Given the description of an element on the screen output the (x, y) to click on. 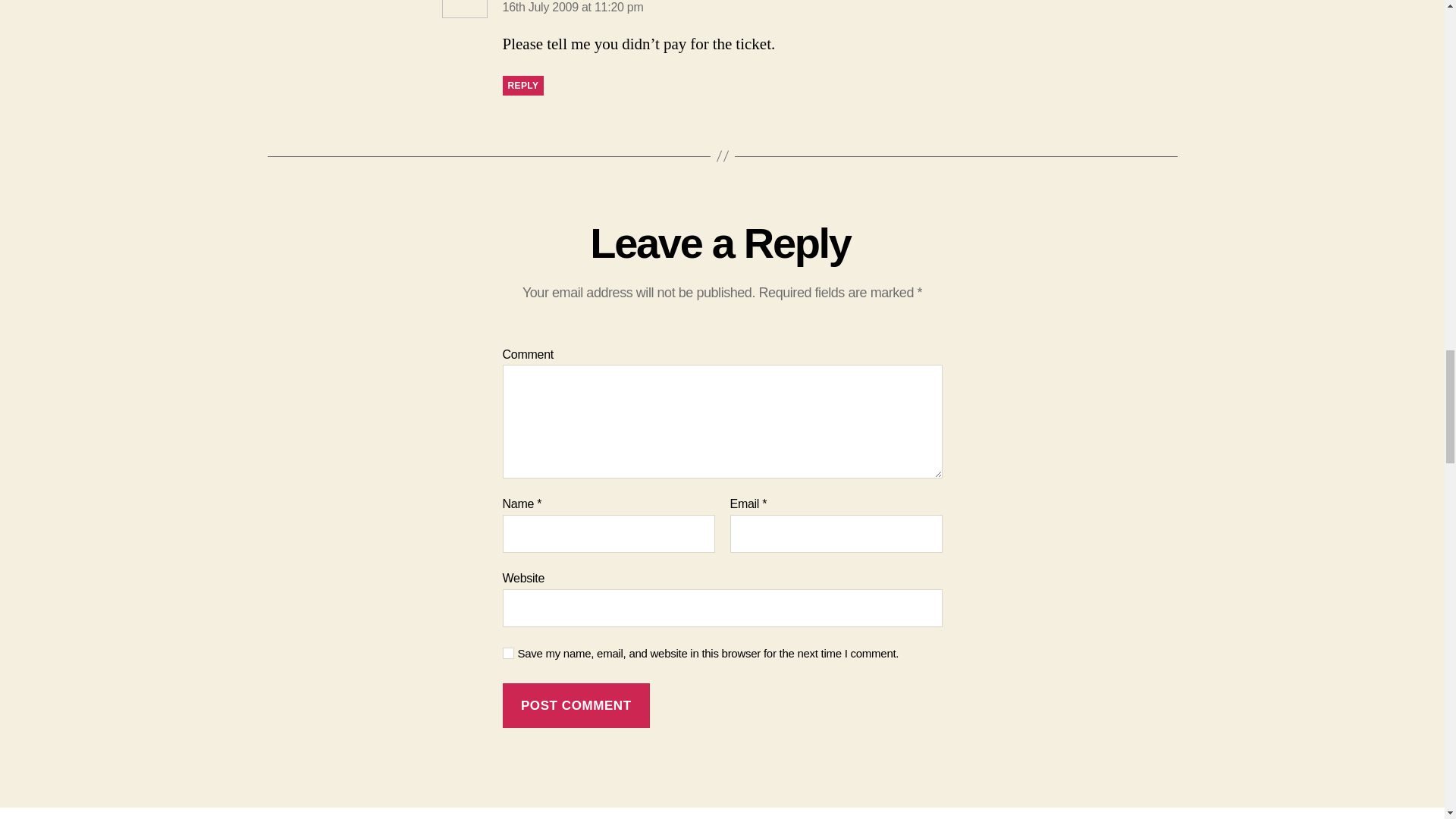
16th July 2009 at 11:20 pm (572, 6)
REPLY (522, 85)
Post Comment (575, 705)
16th July 2009 at 11:20 pm (572, 6)
REPLY (522, 85)
yes (507, 653)
Post Comment (575, 705)
